Given the description of an element on the screen output the (x, y) to click on. 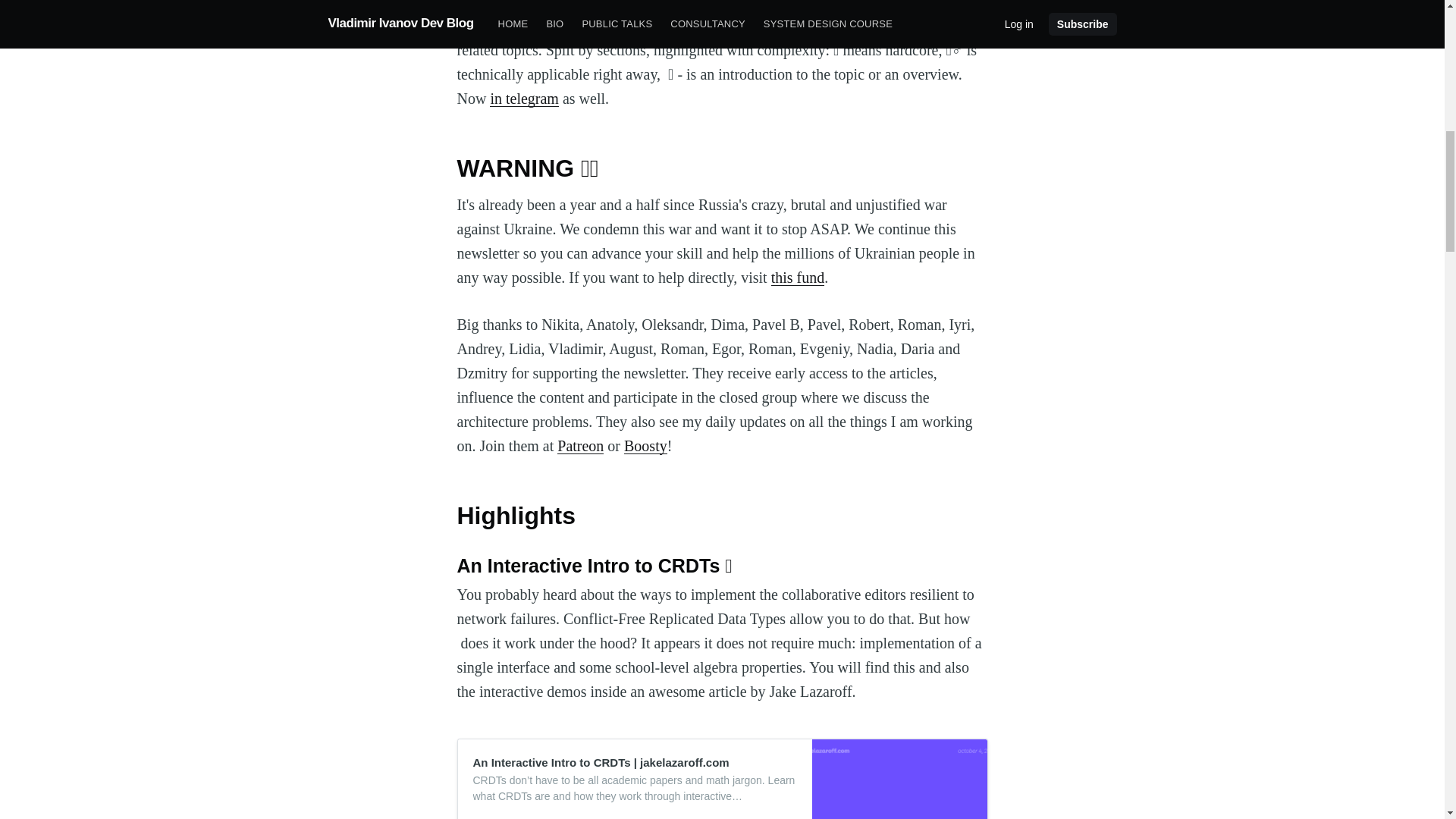
Patreon (580, 445)
Boosty (645, 445)
in telegram (524, 98)
this fund (798, 277)
